Given the description of an element on the screen output the (x, y) to click on. 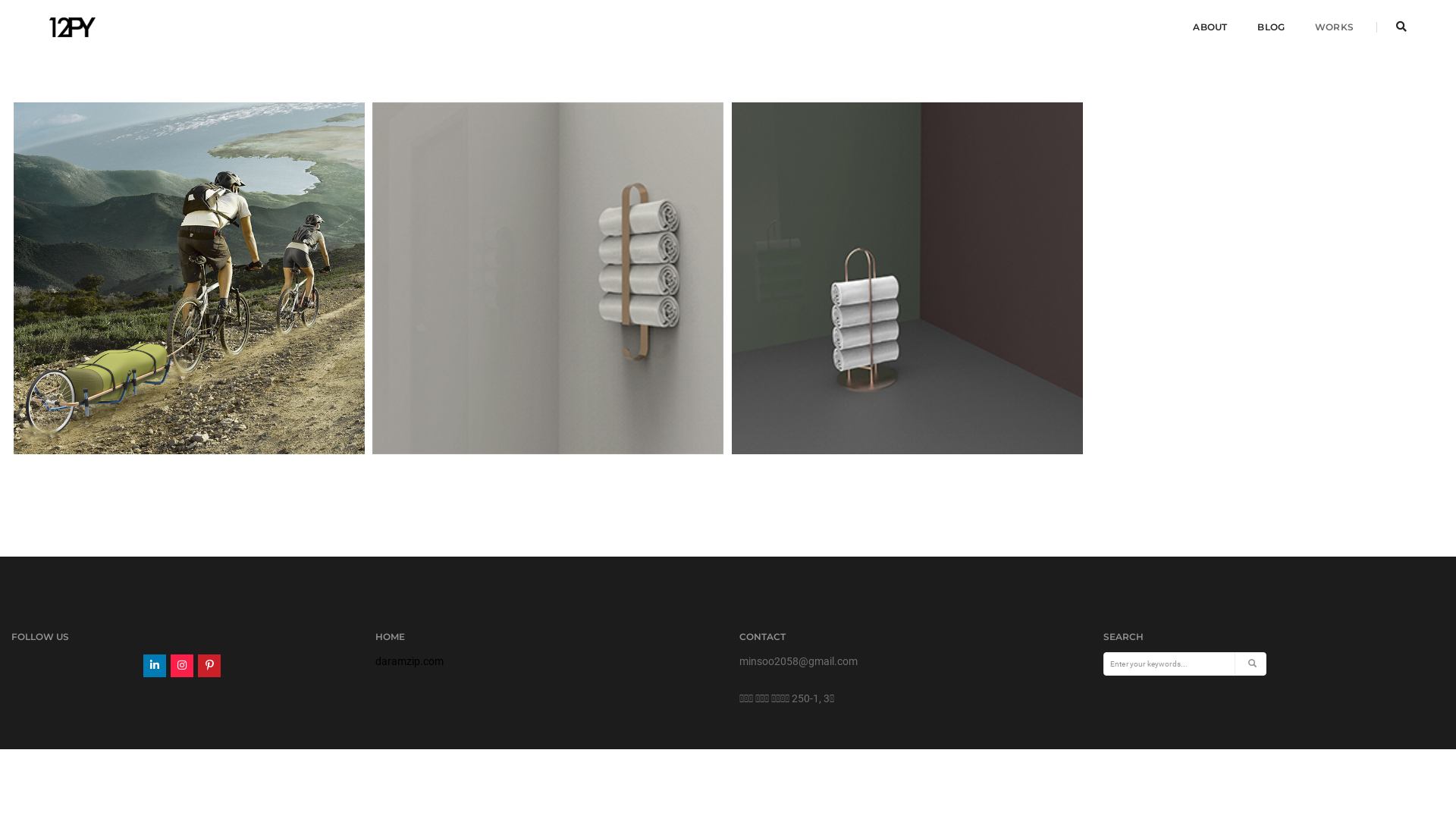
12py Element type: hover (72, 26)
daramzip.com Element type: text (409, 661)
ABOUT Element type: text (1209, 27)
BLOG Element type: text (1270, 27)
WORKS Element type: text (1333, 27)
